Given the description of an element on the screen output the (x, y) to click on. 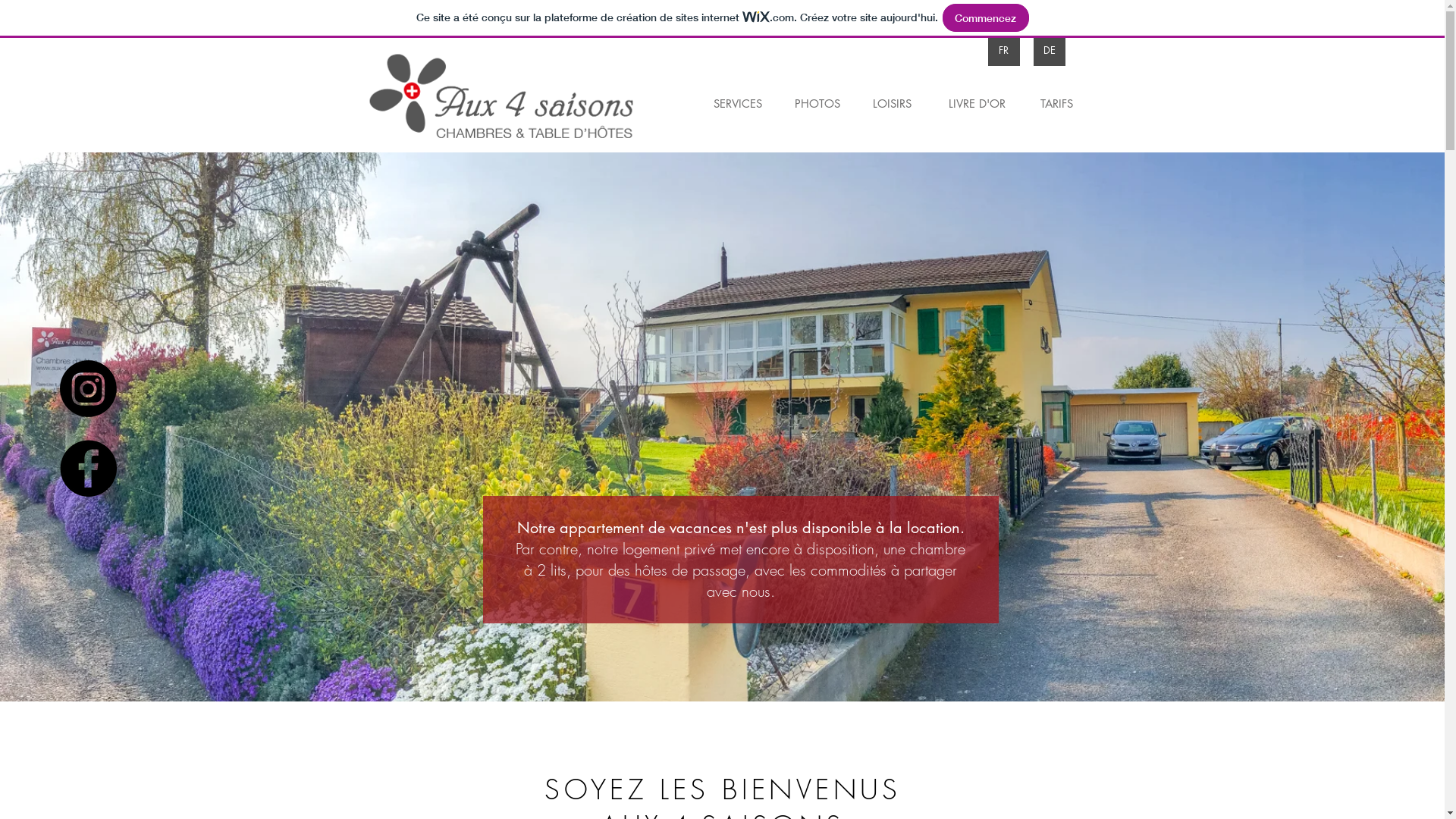
DE Element type: text (1048, 49)
LOISIRS Element type: text (891, 103)
SERVICES Element type: text (737, 103)
PHOTOS Element type: text (817, 103)
TARIFS Element type: text (1055, 103)
LIVRE D'OR Element type: text (976, 103)
FR Element type: text (1003, 49)
